Given the description of an element on the screen output the (x, y) to click on. 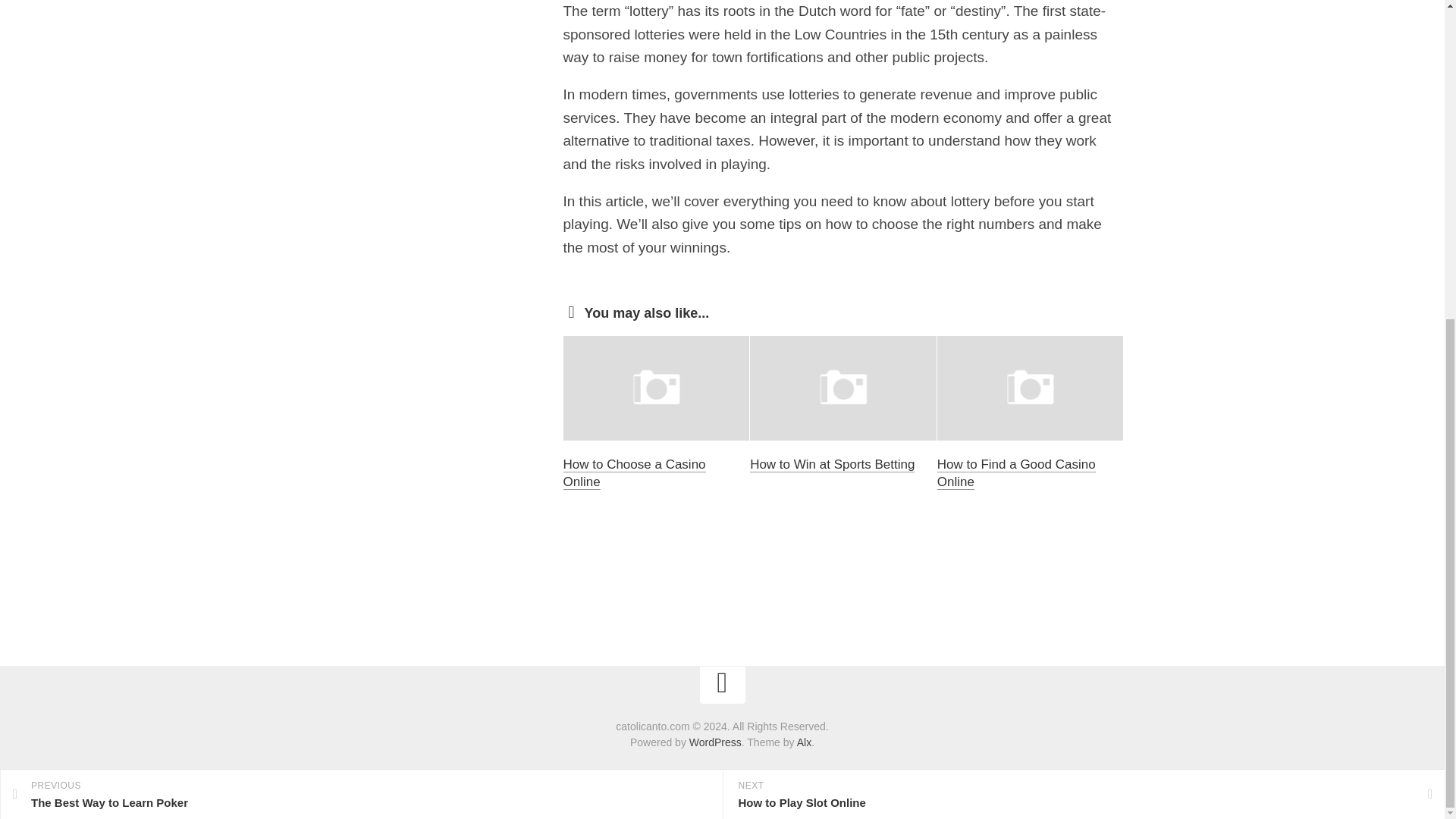
Alx (803, 742)
How to Choose a Casino Online (361, 277)
How to Win at Sports Betting (633, 473)
How to Find a Good Casino Online (831, 464)
WordPress (1016, 473)
